Given the description of an element on the screen output the (x, y) to click on. 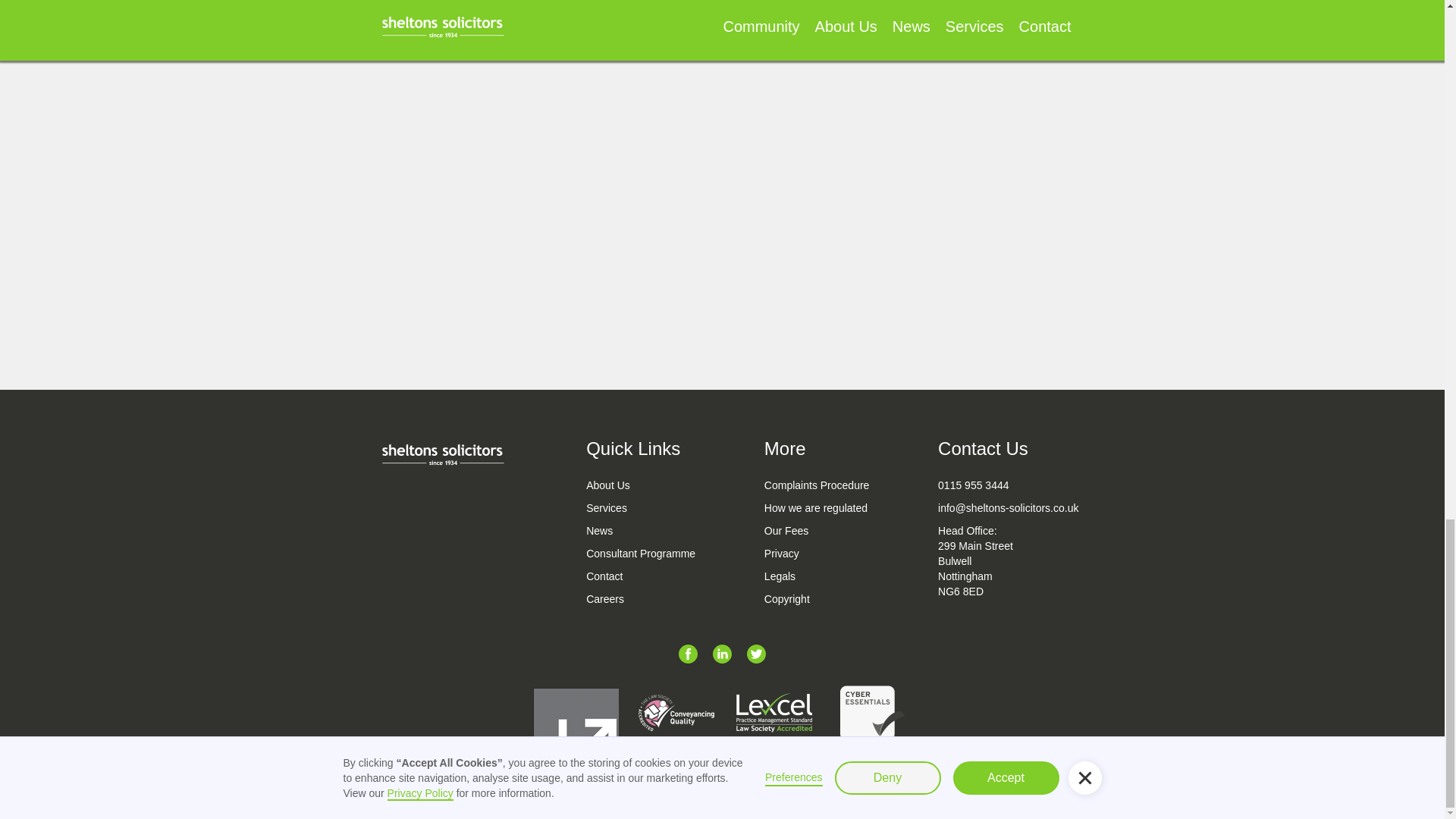
Consultant Programme (640, 553)
About Us (640, 485)
0115 955 3444 (1007, 485)
Our Fees (816, 530)
Careers (640, 598)
Privacy (816, 553)
Contact (640, 575)
Legals (816, 575)
Copyright (816, 598)
Complaints Procedure (816, 485)
